Given the description of an element on the screen output the (x, y) to click on. 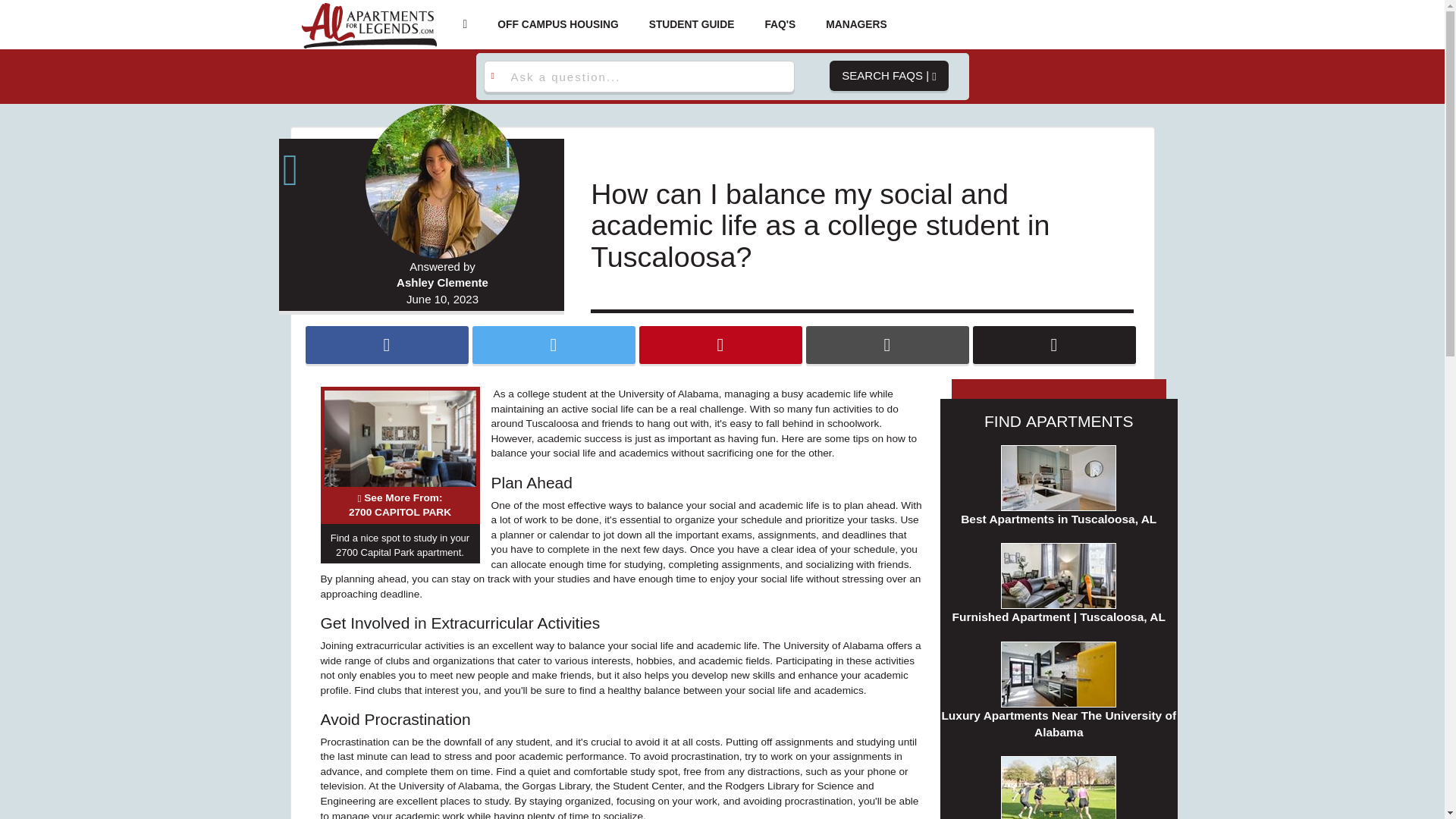
Best Apartments in Tuscaloosa, AL (1058, 486)
Advertise (855, 24)
OFF CAMPUS HOUSING (557, 24)
FAQ's (779, 24)
Email this article to someone (400, 505)
Luxury Apartments Near The University of Alabama (886, 344)
Share on Twitter (1058, 690)
MANAGERS (552, 344)
Share on Facebook (855, 24)
FAQ'S (385, 344)
Copy Link To This Page (779, 24)
LinkedIn Profile (1053, 344)
Share on Pinterest (304, 165)
STUDENT GUIDE (720, 344)
